Given the description of an element on the screen output the (x, y) to click on. 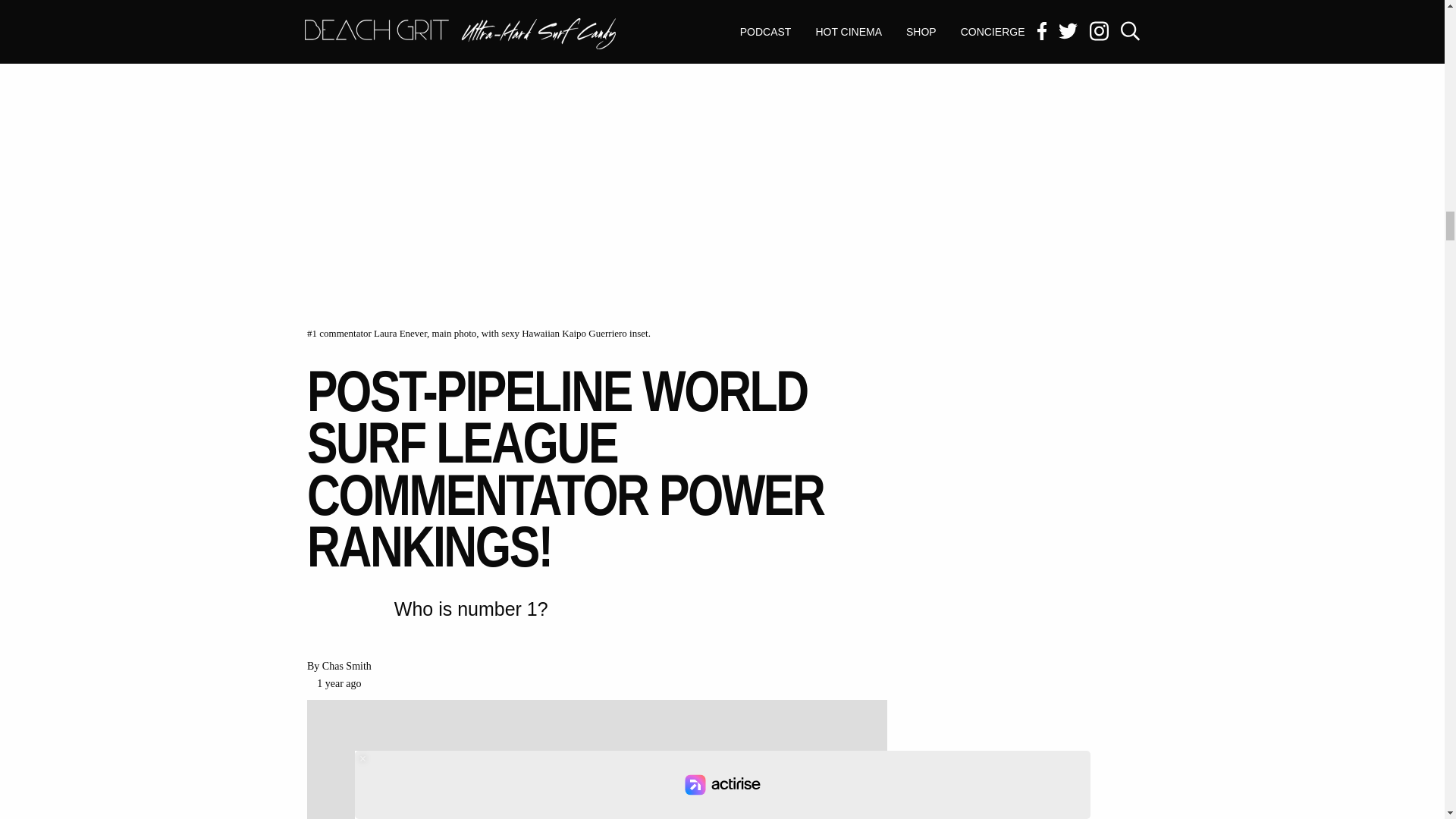
Chas Smith (346, 665)
